Given the description of an element on the screen output the (x, y) to click on. 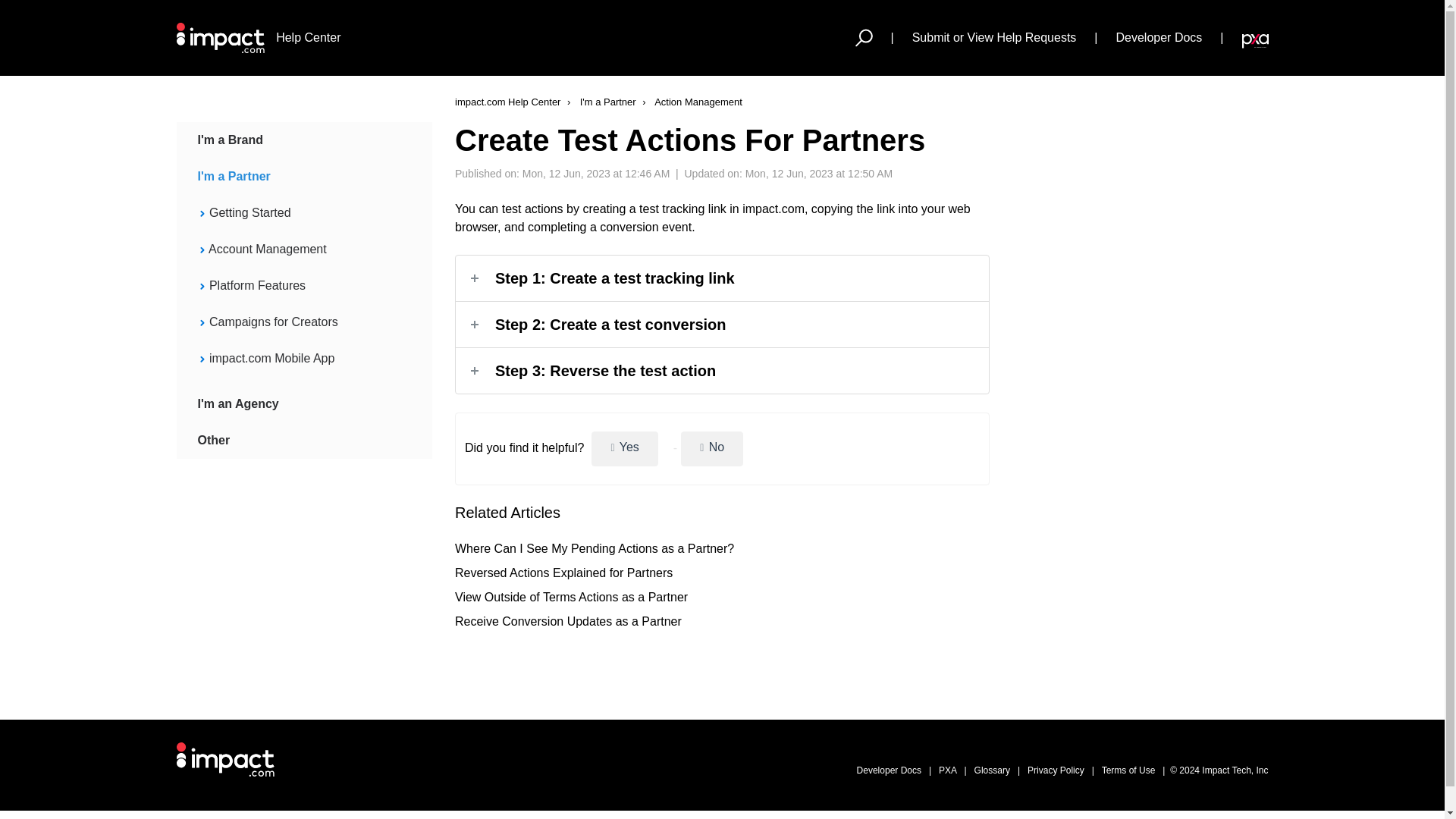
Submit or View Help Requests (994, 37)
Developer Docs (1159, 37)
I'm a Partner (599, 102)
I'm a Brand (292, 140)
Action Management (690, 102)
